Given the description of an element on the screen output the (x, y) to click on. 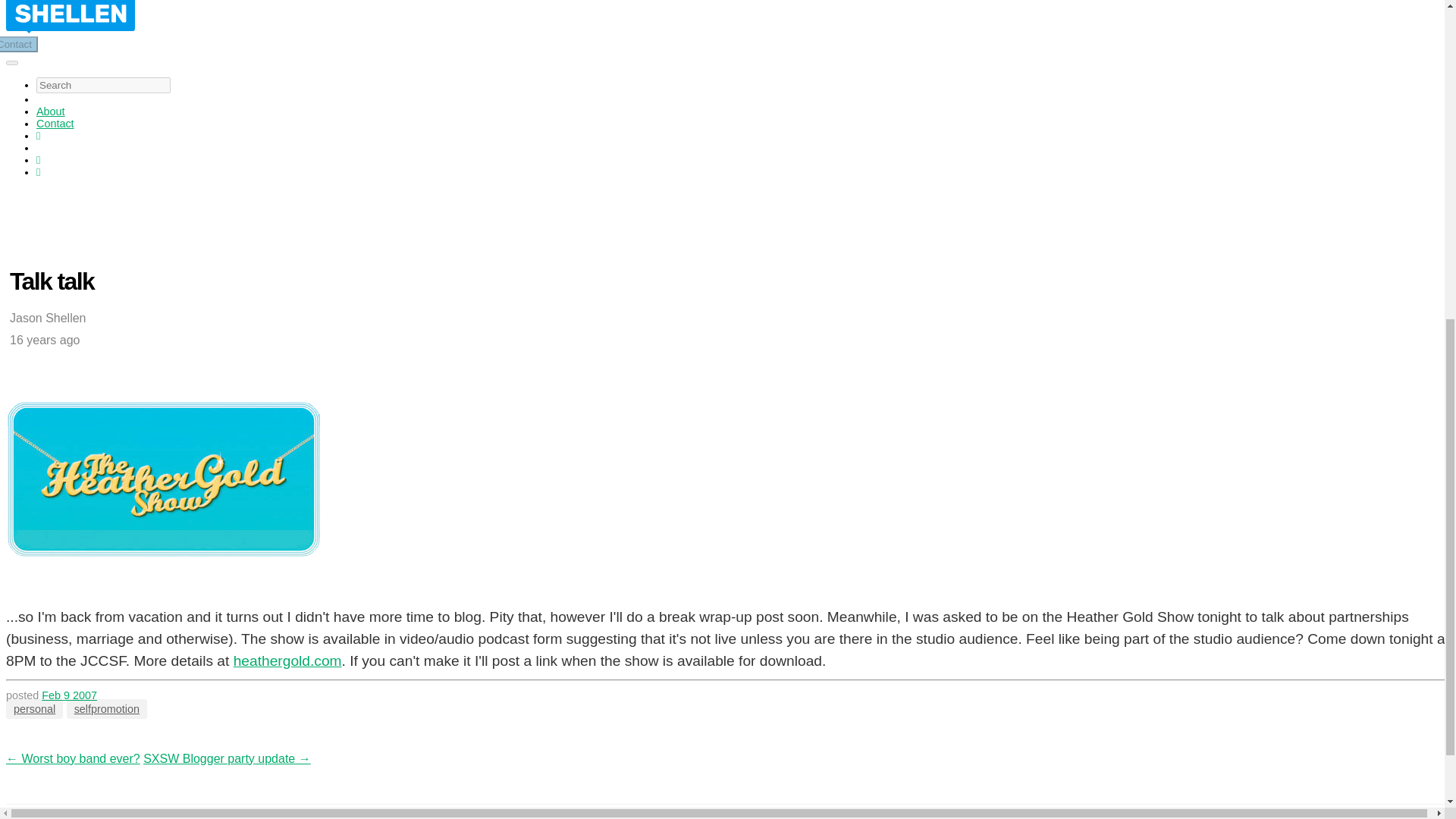
Contact (55, 123)
About (50, 111)
Contact (18, 44)
selfpromotion (106, 709)
Feb 9 2007 (69, 695)
Contact (18, 44)
personal (33, 709)
heathergold.com (287, 660)
